Given the description of an element on the screen output the (x, y) to click on. 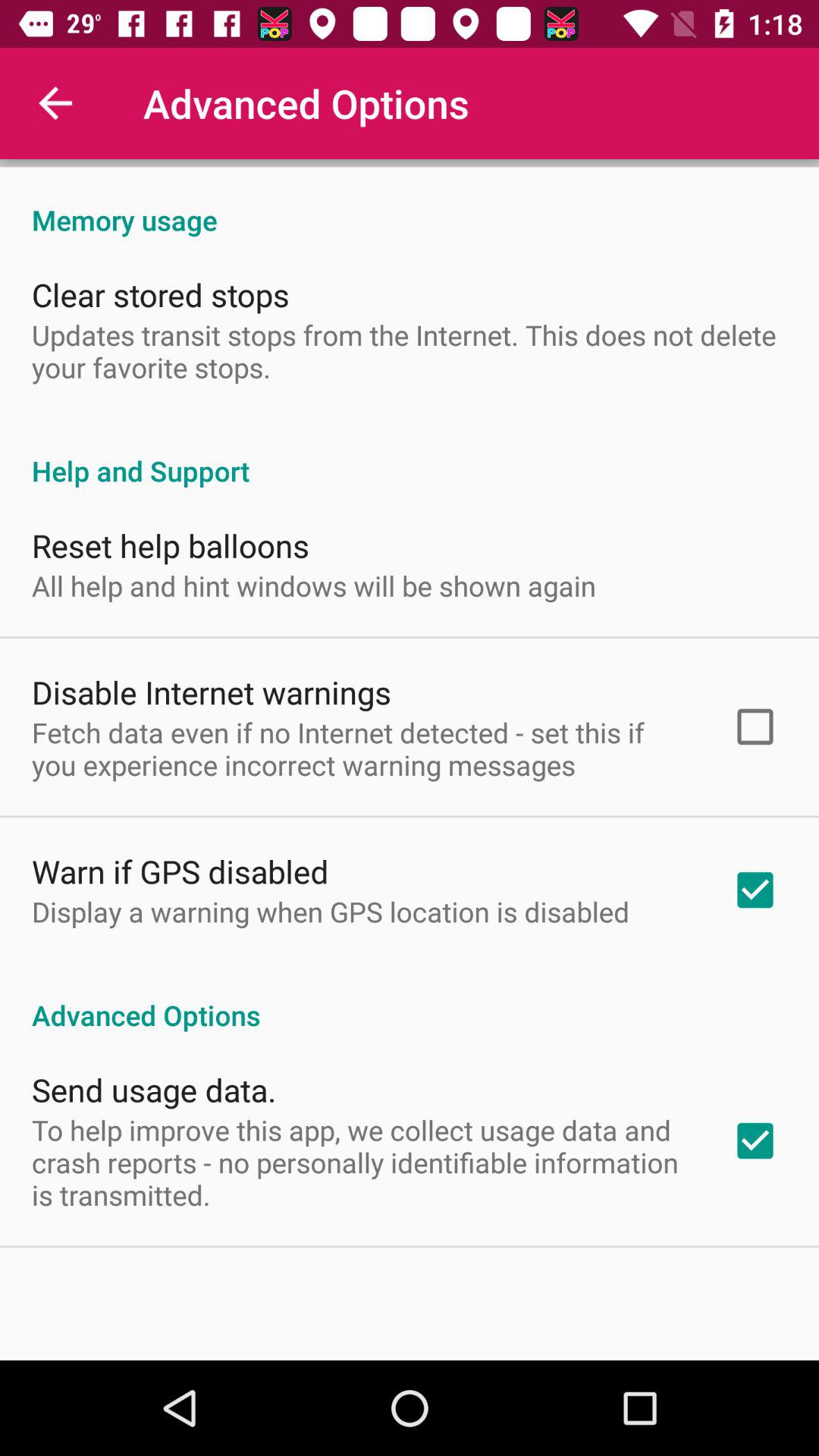
turn on the reset help balloons item (170, 545)
